Given the description of an element on the screen output the (x, y) to click on. 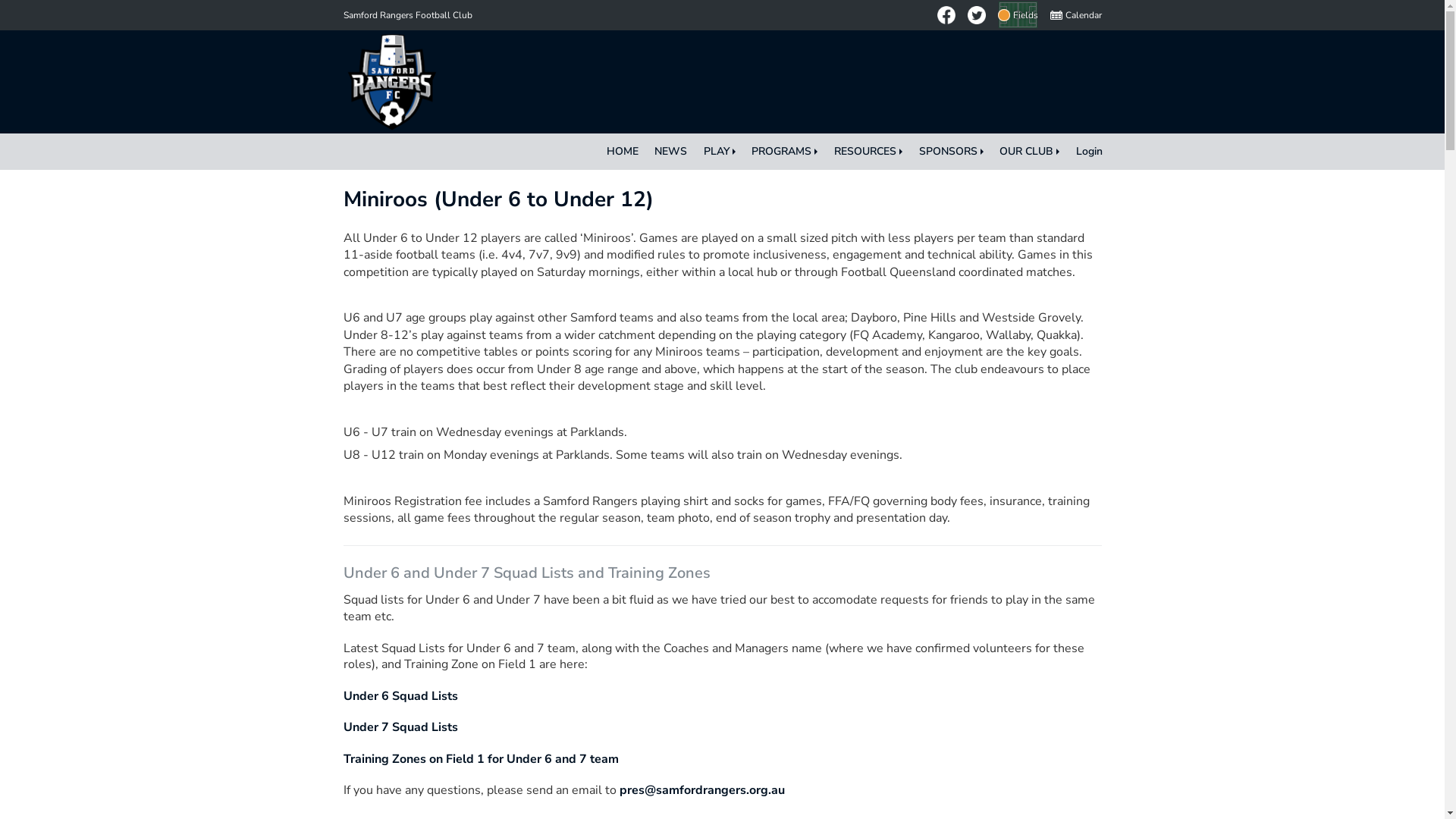
Calendar Element type: text (1075, 15)
HOME Element type: text (622, 151)
Under 6 Squad Lists Element type: text (399, 695)
Under 7 Squad Lists Element type: text (399, 726)
NEWS Element type: text (670, 151)
Training Zones on Field 1 for Under 6 and 7 team Element type: text (480, 758)
OUR CLUB Element type: text (1029, 151)
Samford Rangers Football Club on Twitter Element type: hover (976, 15)
PROGRAMS Element type: text (784, 151)
RESOURCES Element type: text (867, 151)
Fields Element type: text (1017, 15)
Samford Rangers Football Club Element type: text (406, 15)
pres@samfordrangers.org.au Element type: text (701, 789)
Samford Rangers Football Club on Facebook Element type: hover (946, 15)
PLAY Element type: text (719, 151)
SPONSORS Element type: text (950, 151)
Login Element type: text (1088, 151)
